Given the description of an element on the screen output the (x, y) to click on. 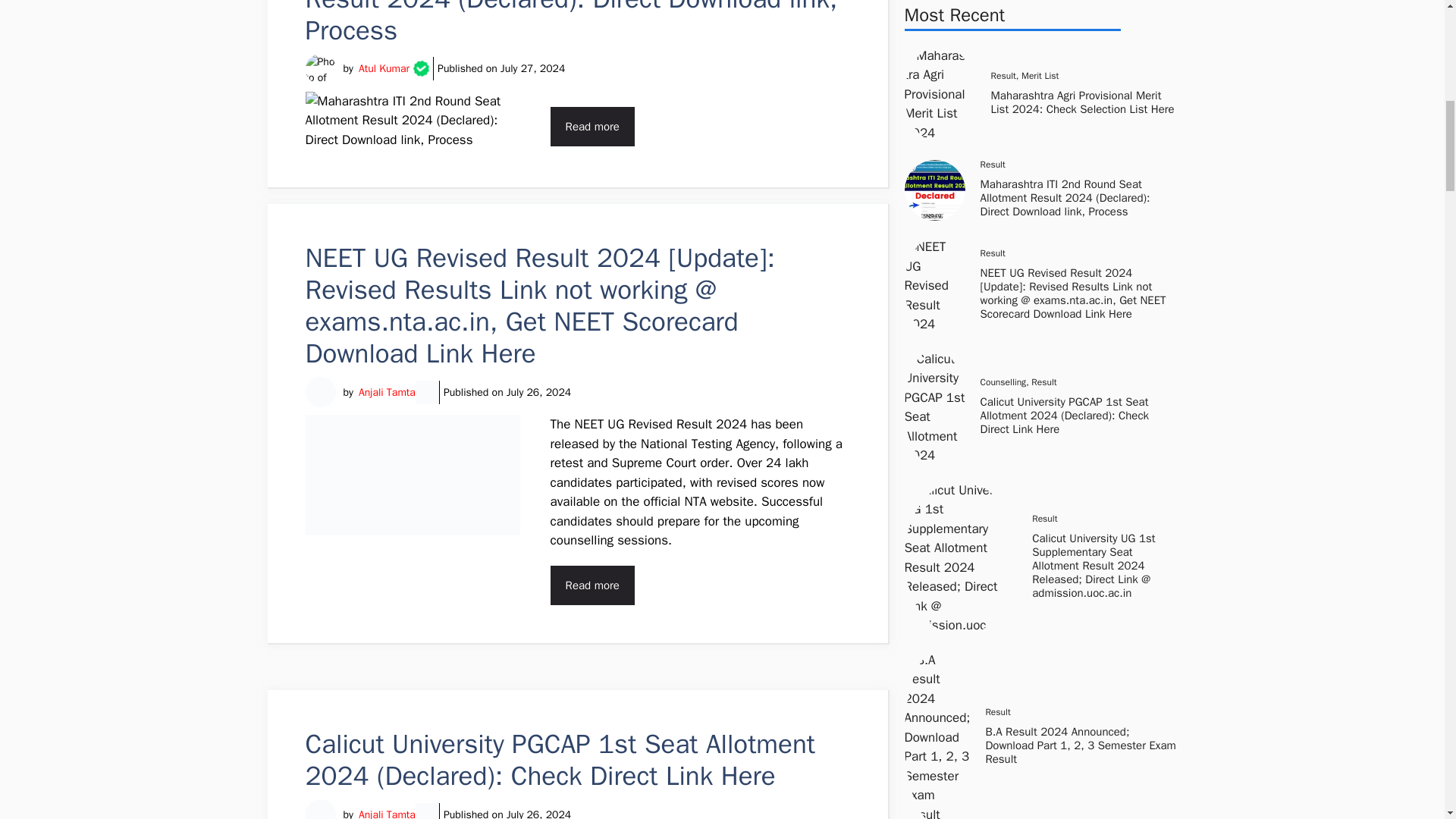
Anjali Tamta (386, 391)
Atul Kumar (383, 68)
Read more (592, 585)
Anjali Tamta (386, 812)
Read more (592, 126)
